Given the description of an element on the screen output the (x, y) to click on. 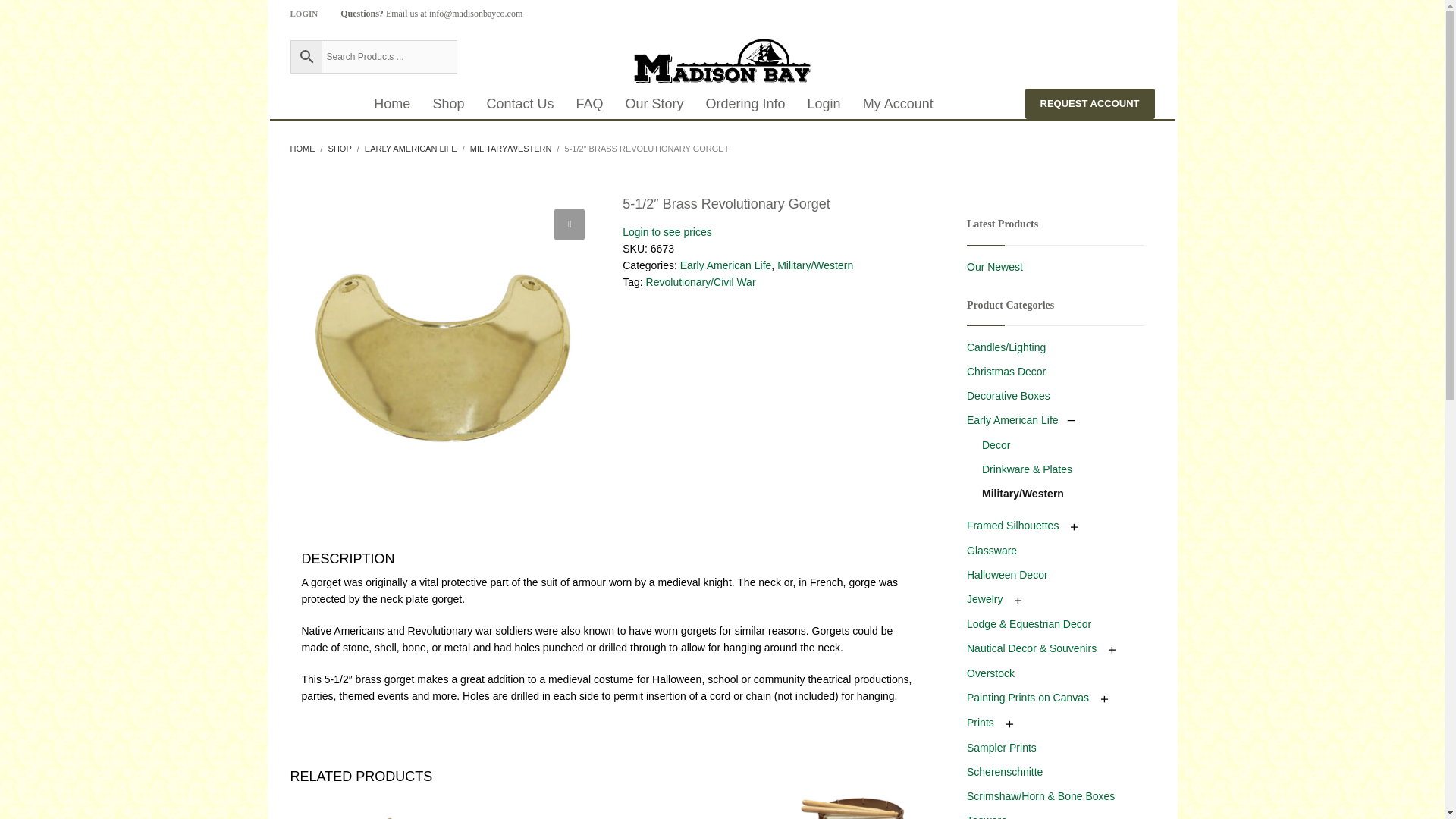
Home (392, 103)
Contact Us (519, 103)
HOME (301, 148)
FAQ (588, 103)
My Account (897, 103)
Ordering Info (745, 103)
Wholesale Historic American Reproductions (720, 60)
SHOP (340, 148)
Early American Life (725, 265)
Login (823, 103)
LOGIN (303, 13)
Login to see prices (667, 232)
Our Story (654, 103)
EARLY AMERICAN LIFE (411, 148)
Account Access Request Form (1089, 103)
